Given the description of an element on the screen output the (x, y) to click on. 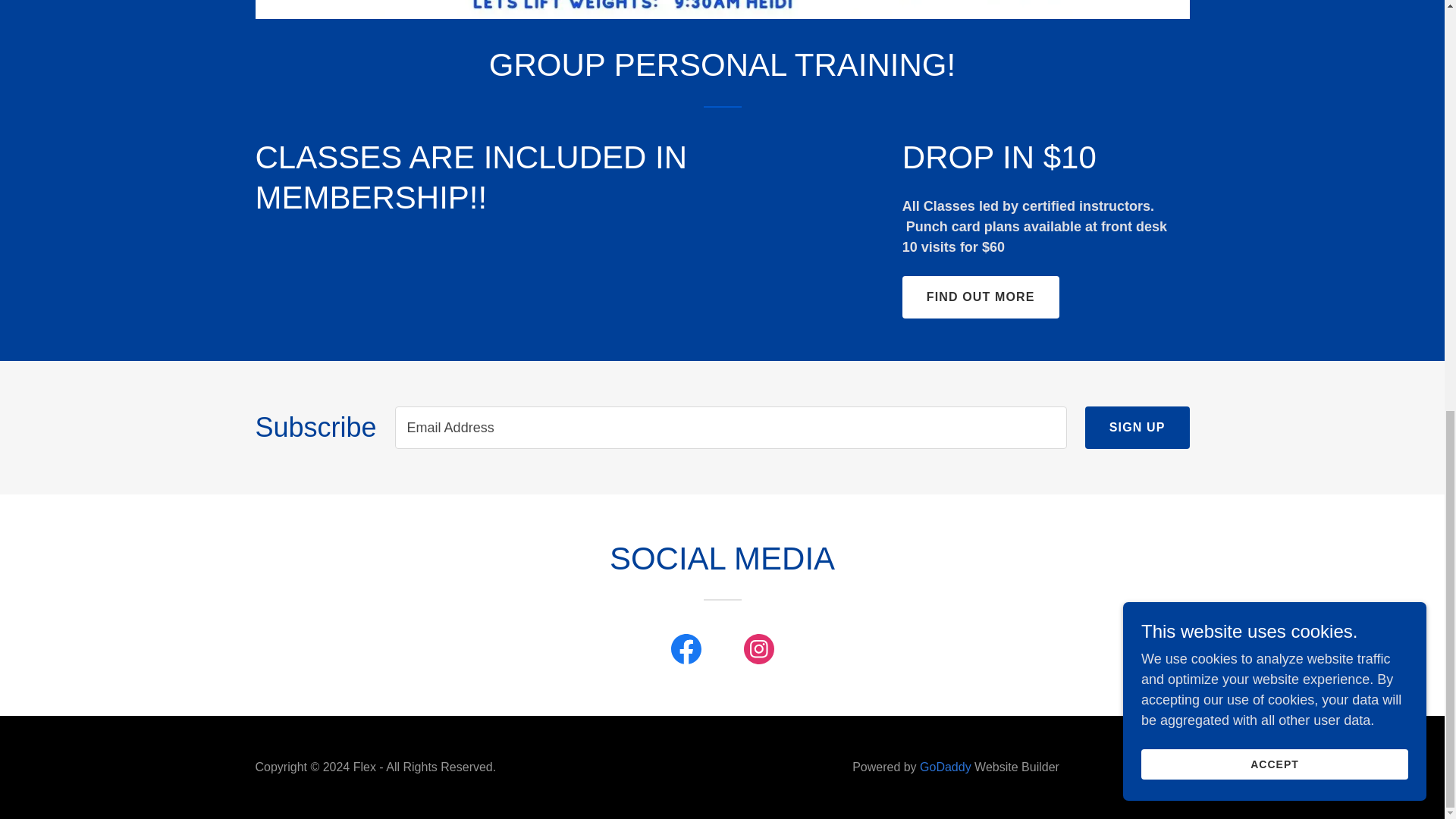
FIND OUT MORE (980, 297)
SIGN UP (1136, 427)
GoDaddy (945, 766)
